Given the description of an element on the screen output the (x, y) to click on. 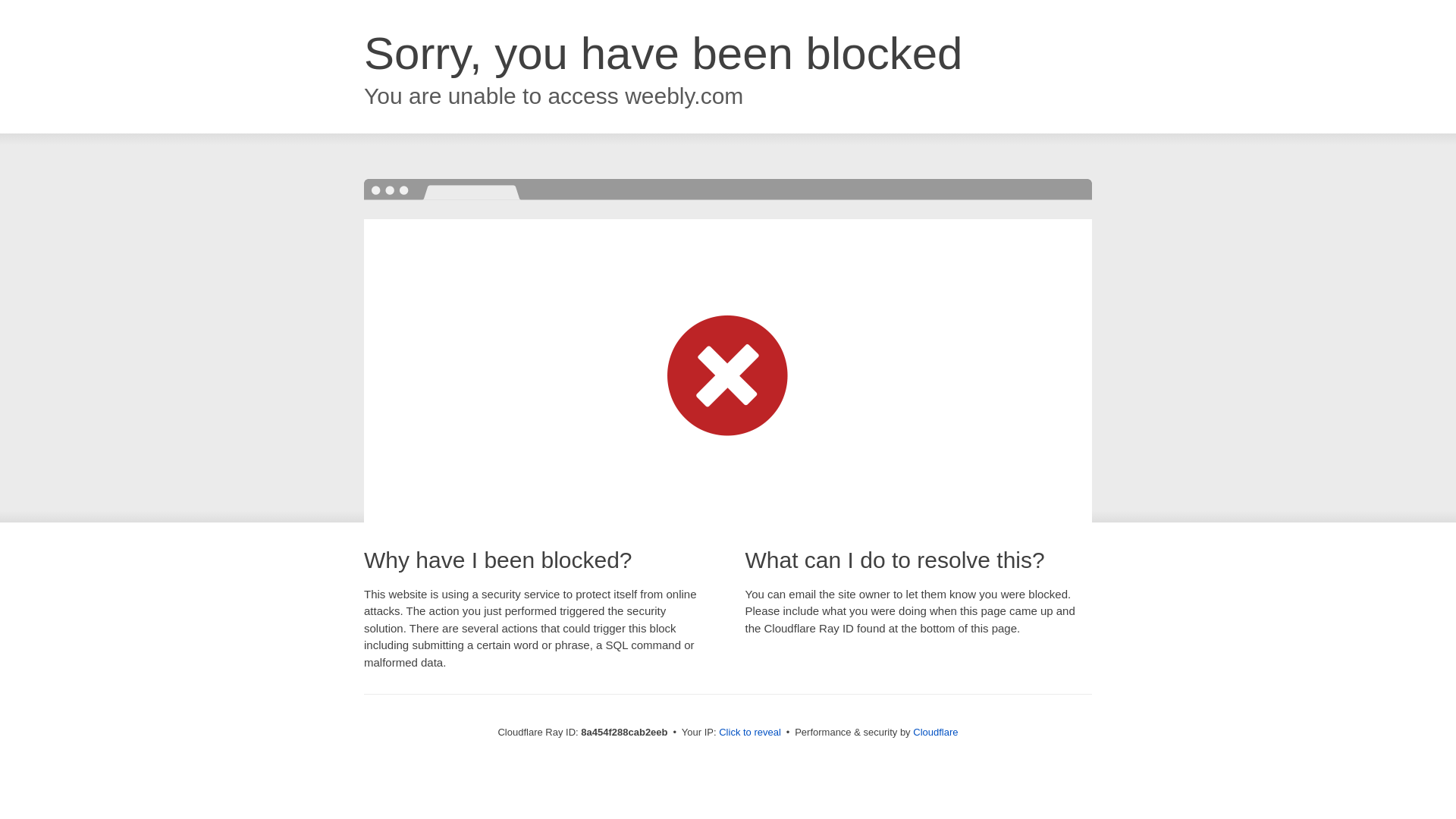
Click to reveal (749, 732)
Cloudflare (935, 731)
